Given the description of an element on the screen output the (x, y) to click on. 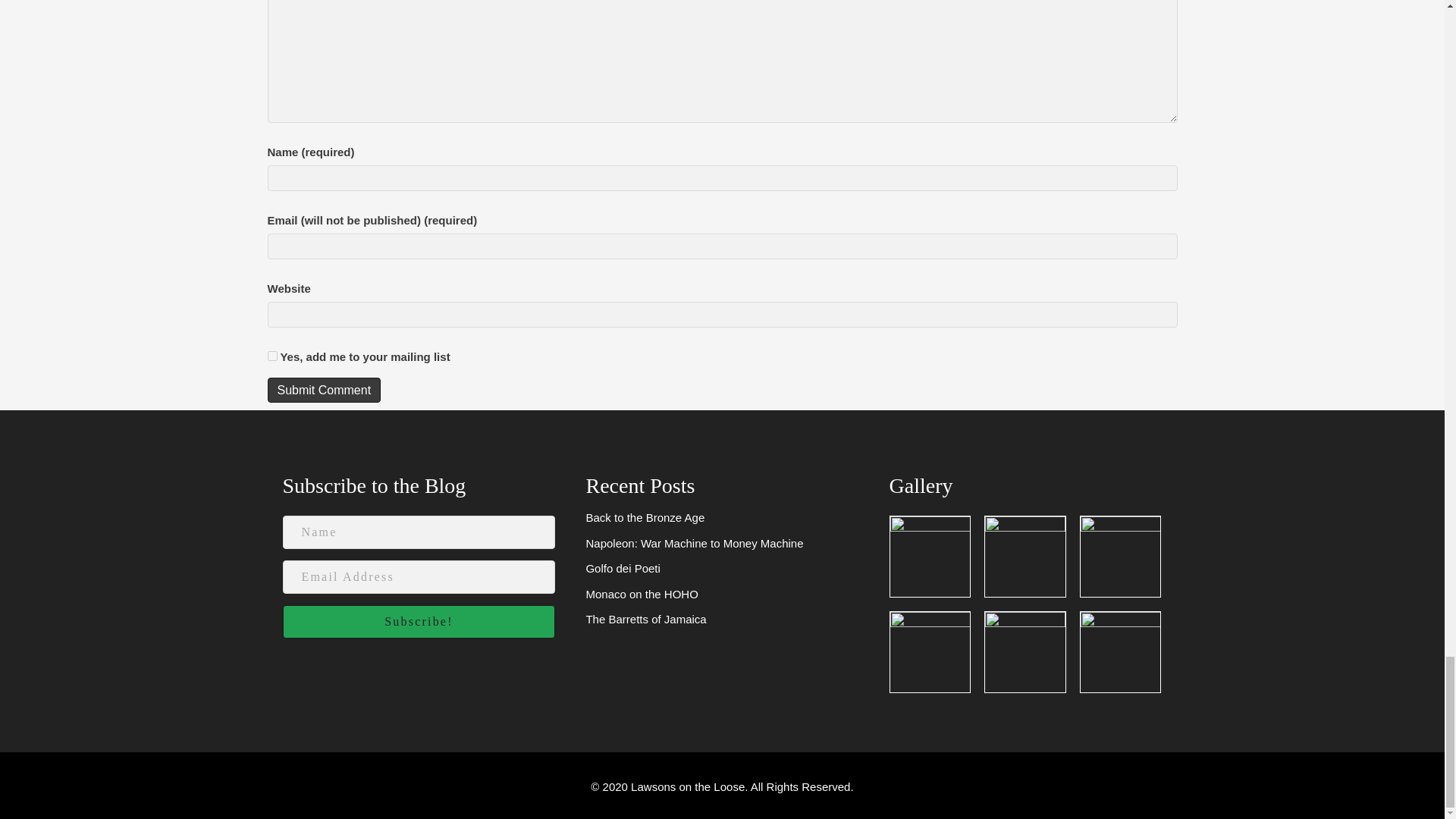
B9B51AF5-F053-4AAD-8757-118B430A16A9 (1025, 556)
2D6A1FC5-65D7-4F39-8B52-D6E344F3B3F1 (930, 556)
Submit Comment (323, 389)
Subscribe to the Blog (373, 485)
Subscribe to the Blog (373, 485)
41F4252F-BF9C-44FB-9316-3BEB012BDF3B (1120, 556)
Submit Comment (323, 389)
Napoleon: War Machine to Money Machine (694, 543)
28447289-7E48-4EE8-8FC5-A8AF9AD8252E (1025, 651)
The Barretts of Jamaica (645, 618)
Gallery (921, 485)
Subscribe! (418, 621)
Gallery (921, 485)
Monaco on the HOHO (641, 594)
Golfo dei Poeti (622, 567)
